Given the description of an element on the screen output the (x, y) to click on. 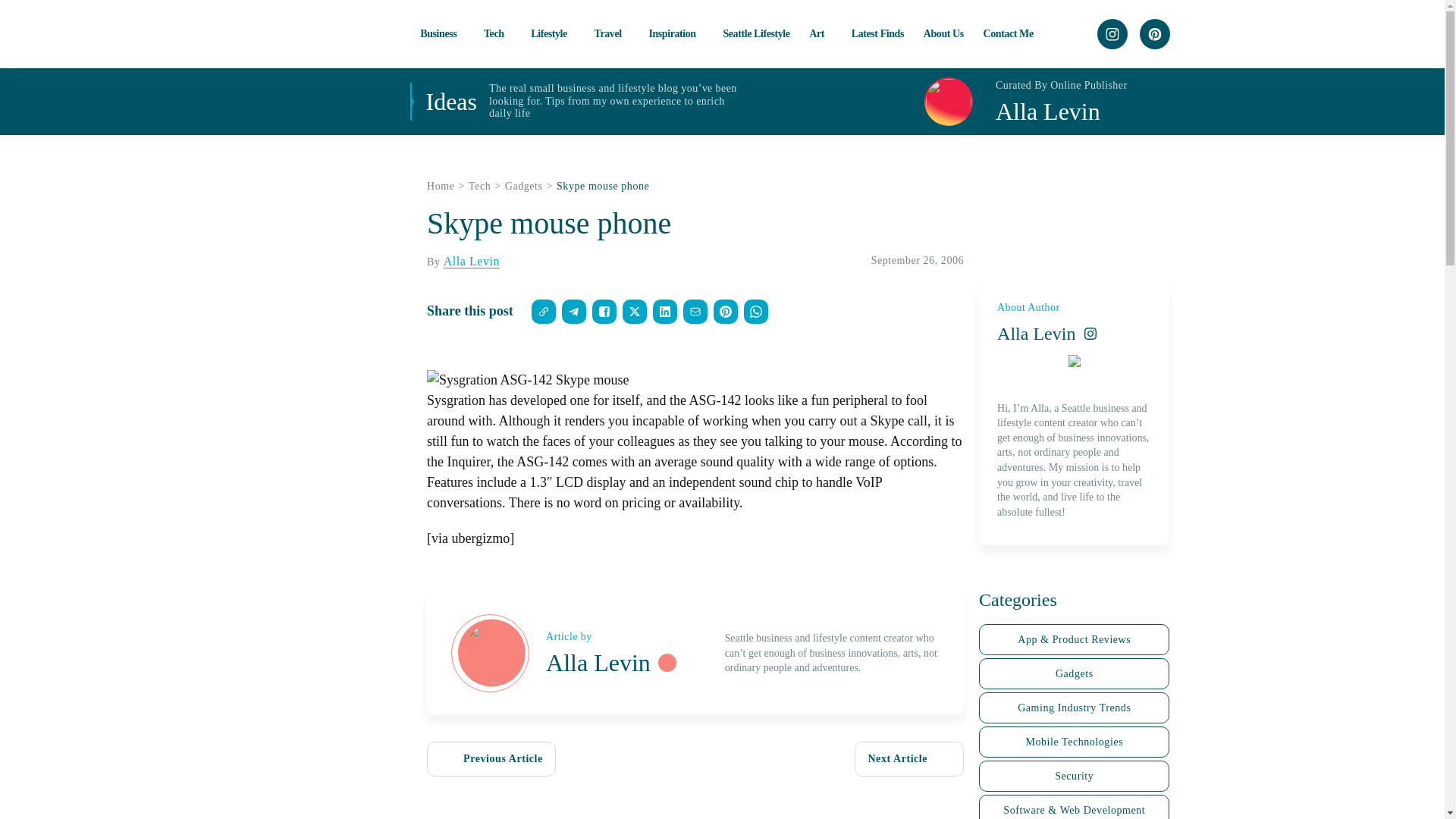
Travel (611, 33)
Tech (497, 33)
Inspiration (675, 33)
Sysgration ASG-142 Skype mouse (527, 380)
Business (442, 33)
Lifestyle (553, 33)
